Given the description of an element on the screen output the (x, y) to click on. 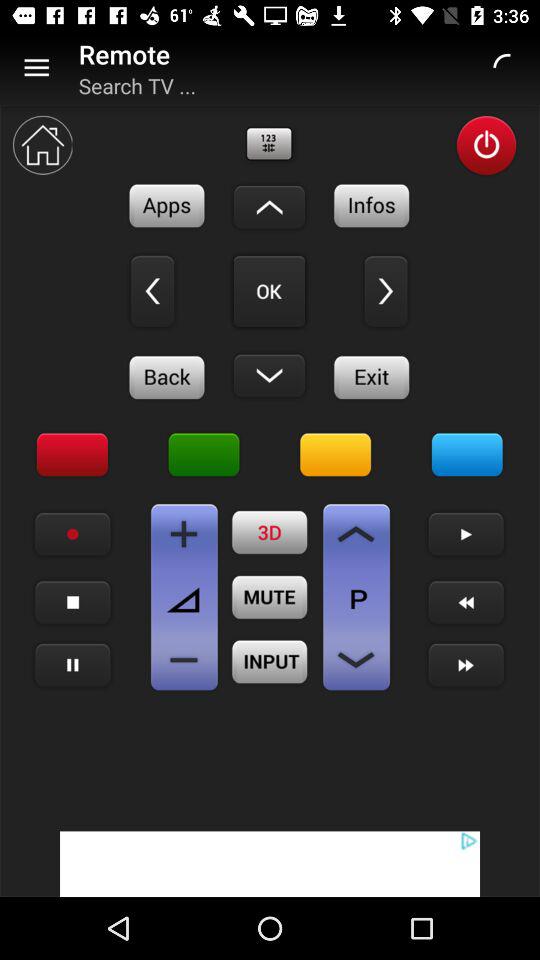
channel down button (356, 660)
